Given the description of an element on the screen output the (x, y) to click on. 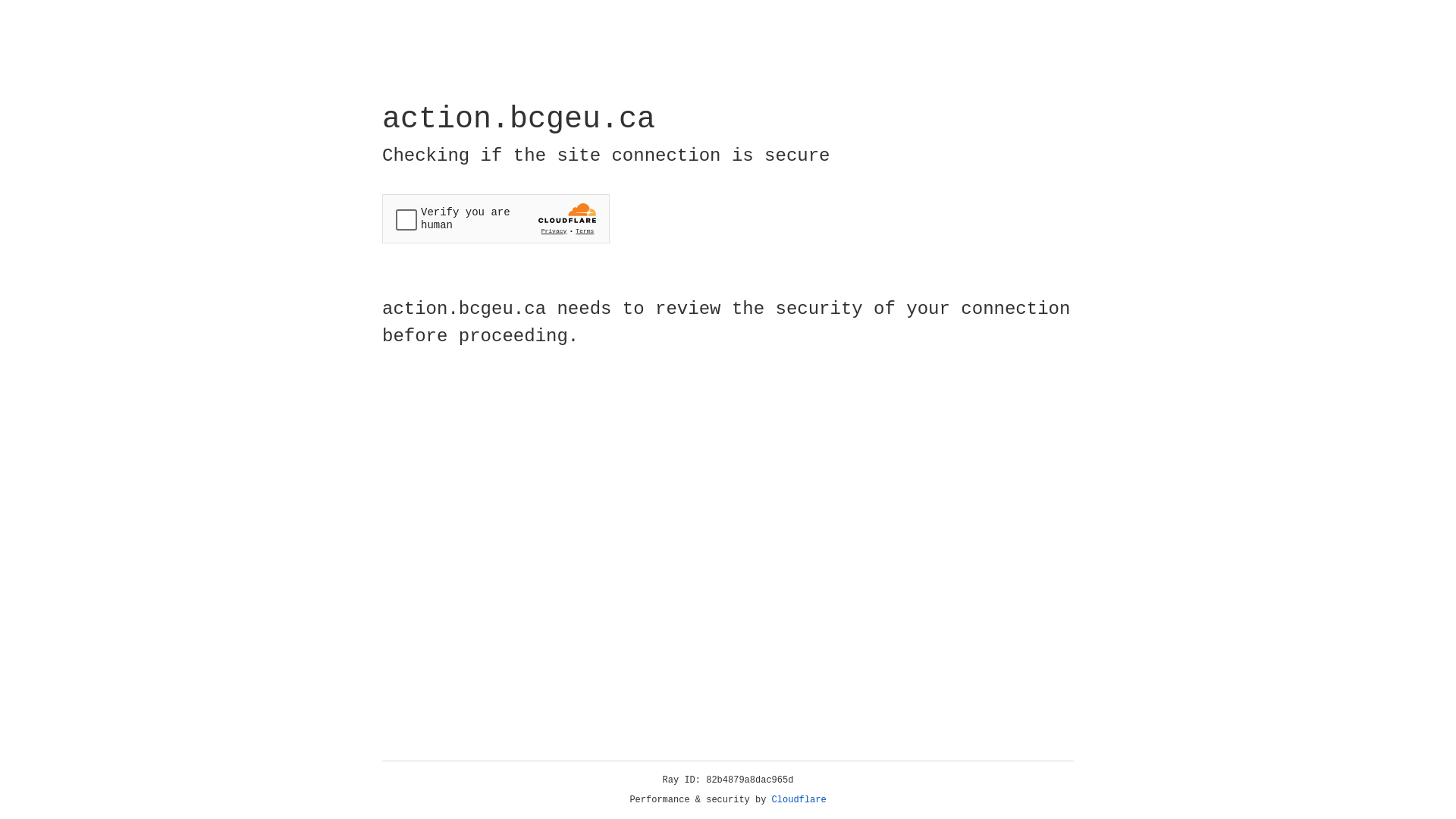
Cloudflare Element type: text (798, 799)
Widget containing a Cloudflare security challenge Element type: hover (495, 218)
